Given the description of an element on the screen output the (x, y) to click on. 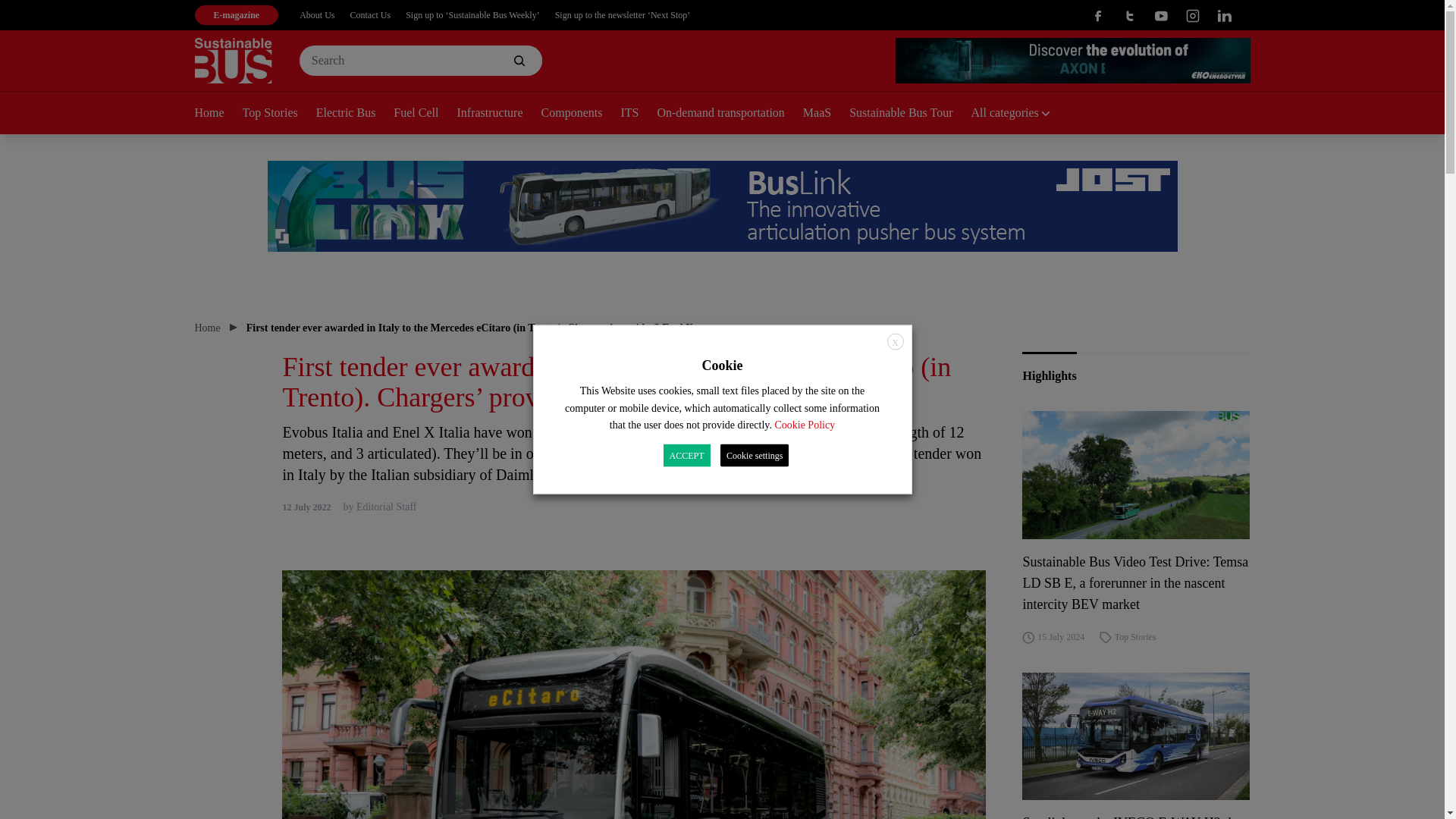
E-magazine (235, 14)
Sustainable Bus (231, 60)
Top Stories (279, 113)
Infrastructure (498, 113)
Contact Us (370, 14)
Electric Bus (354, 113)
About Us (316, 14)
Components (581, 113)
Fuel Cell (425, 113)
